Given the description of an element on the screen output the (x, y) to click on. 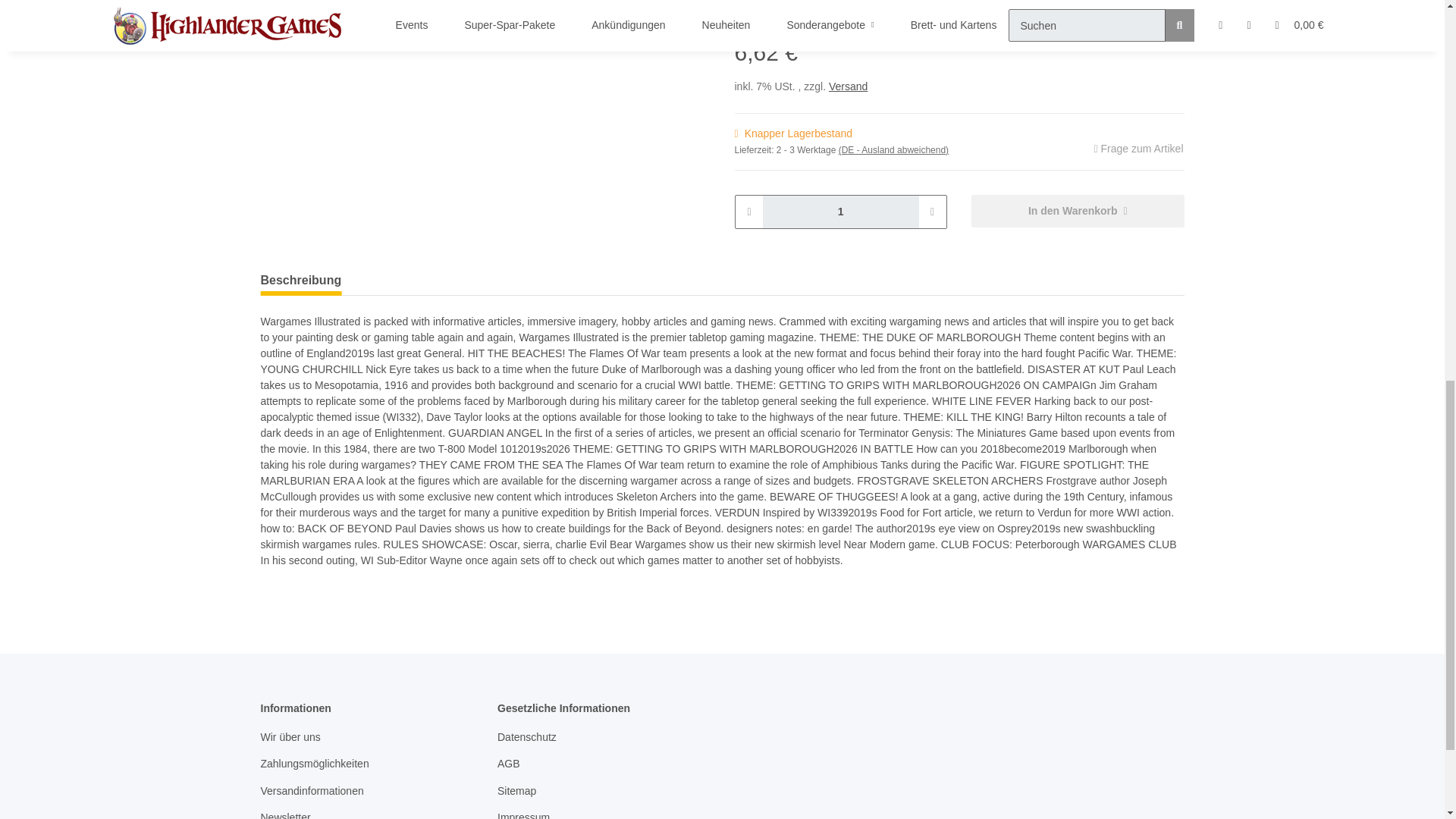
1 (840, 211)
